Given the description of an element on the screen output the (x, y) to click on. 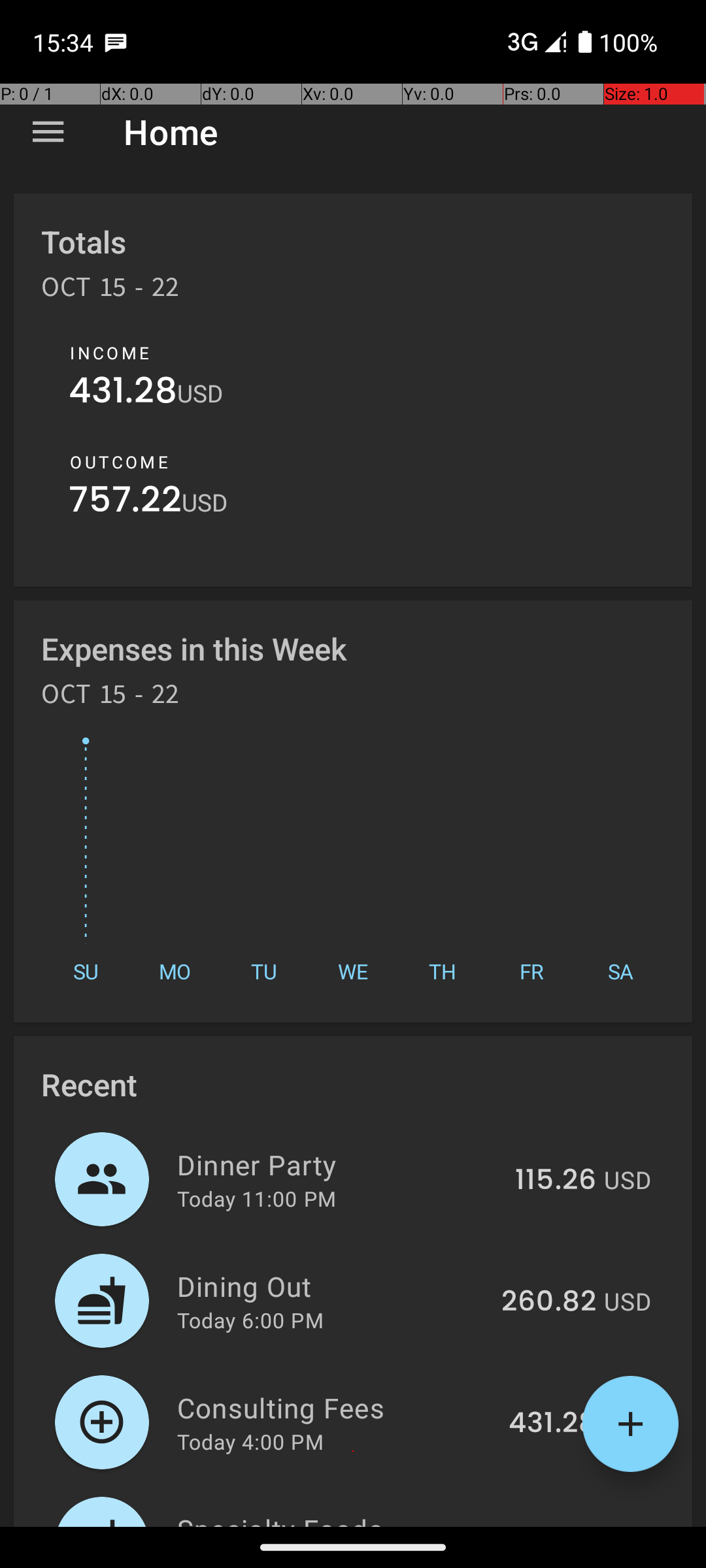
431.28 Element type: android.widget.TextView (122, 393)
757.22 Element type: android.widget.TextView (124, 502)
Dinner Party Element type: android.widget.TextView (338, 1164)
Today 11:00 PM Element type: android.widget.TextView (256, 1198)
115.26 Element type: android.widget.TextView (555, 1180)
Dining Out Element type: android.widget.TextView (331, 1285)
Today 6:00 PM Element type: android.widget.TextView (250, 1320)
260.82 Element type: android.widget.TextView (548, 1301)
Consulting Fees Element type: android.widget.TextView (335, 1407)
Today 4:00 PM Element type: android.widget.TextView (250, 1441)
Specialty Foods Element type: android.widget.TextView (339, 1518)
126.71 Element type: android.widget.TextView (556, 1524)
SMS Messenger notification: +12845986552 Element type: android.widget.ImageView (115, 41)
